Given the description of an element on the screen output the (x, y) to click on. 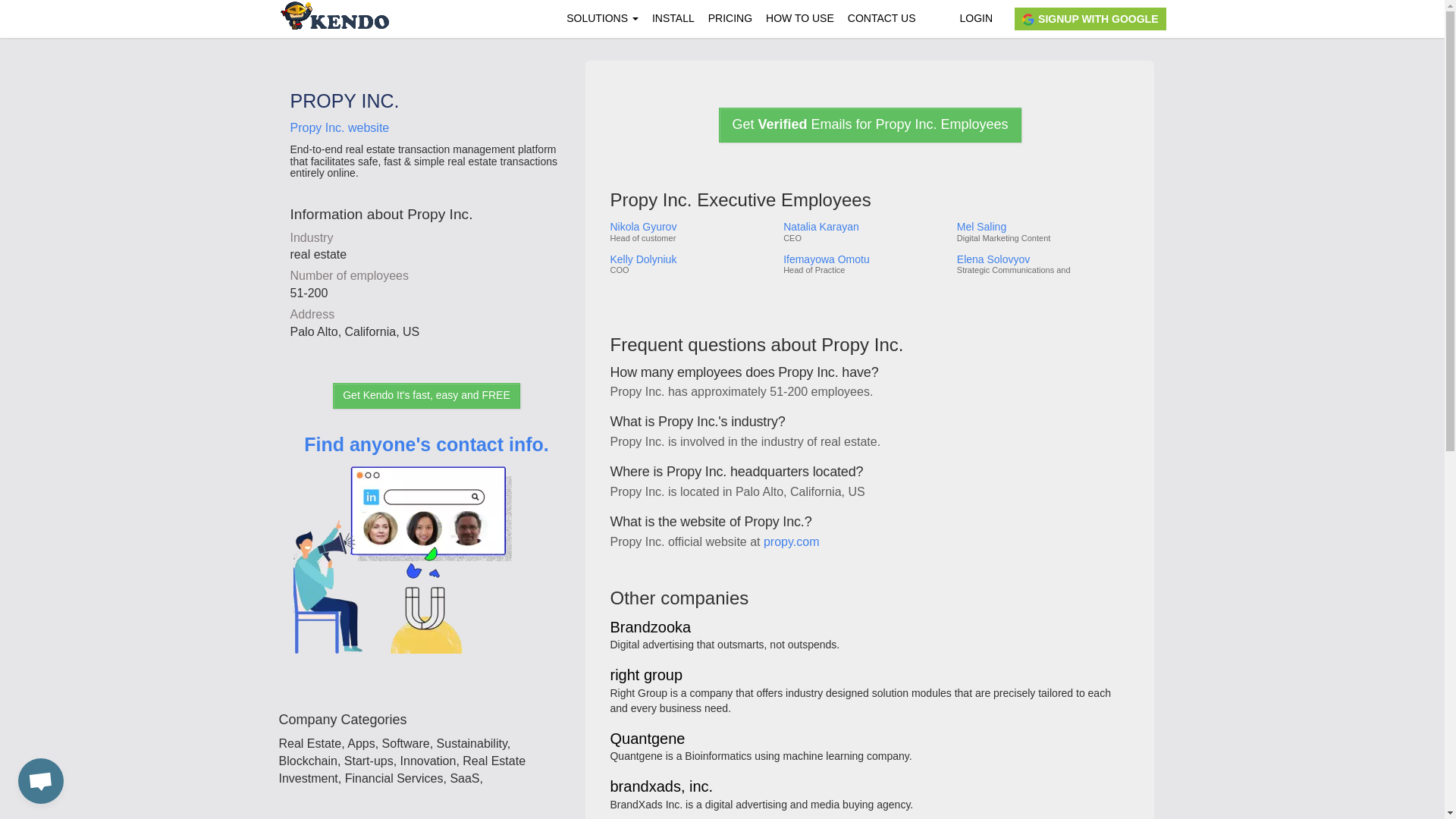
right group (646, 675)
Nikola Gyurov (690, 226)
Find anyone's contact info. (425, 565)
Quantgene (647, 739)
Elena Solovyov (1041, 259)
Get Kendo It's fast, easy and FREE (426, 395)
Get Verified Emails for Propy Inc. Employees (869, 124)
Brandzooka (650, 627)
CONTACT US (882, 18)
Propy Inc. website (338, 127)
Ifemayowa Omotu (863, 259)
HOW TO USE (799, 18)
Kelly Dolyniuk (690, 259)
brandxads, inc. (661, 787)
PRICING (729, 18)
